Given the description of an element on the screen output the (x, y) to click on. 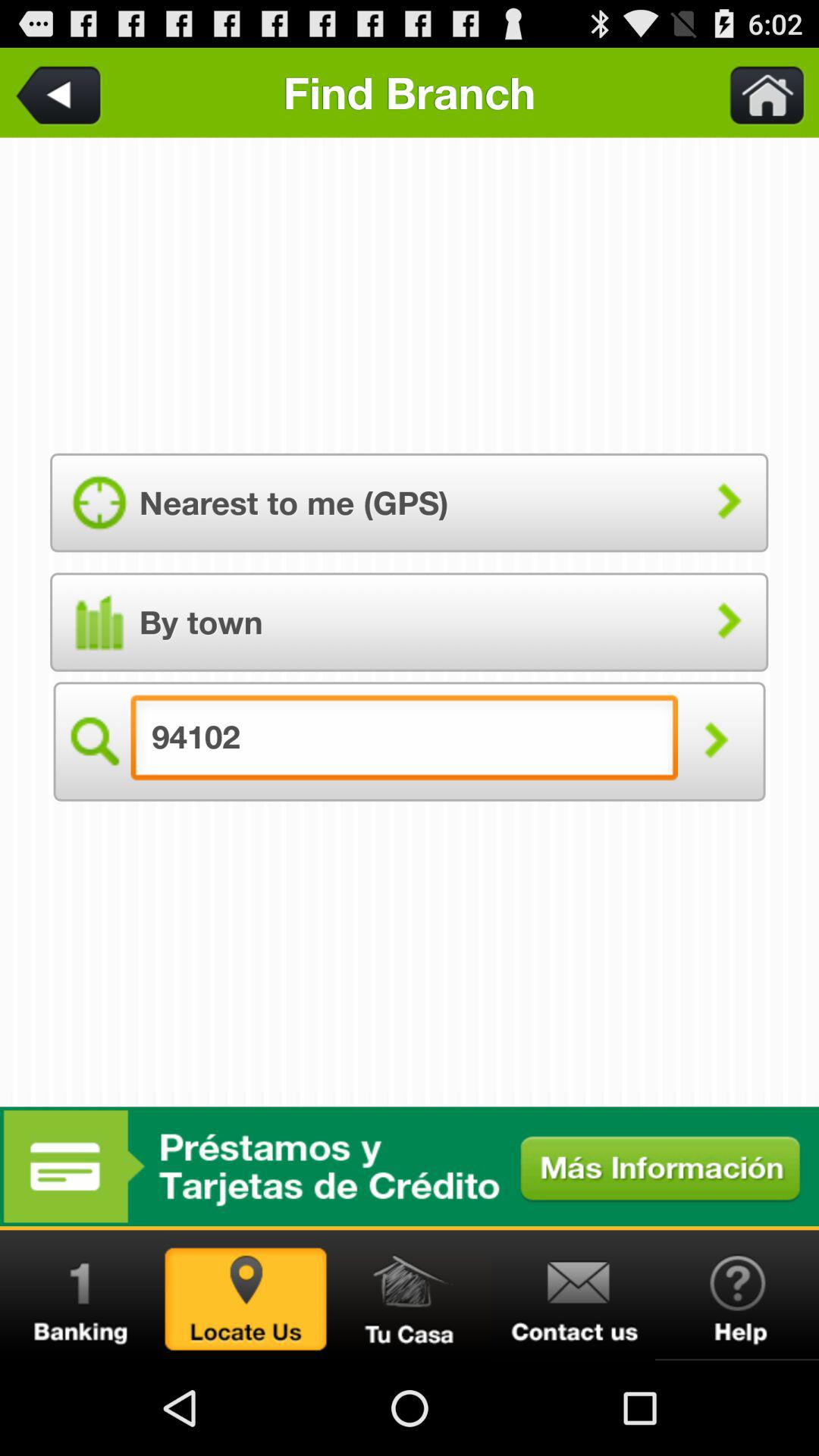
go to home page (757, 92)
